Given the description of an element on the screen output the (x, y) to click on. 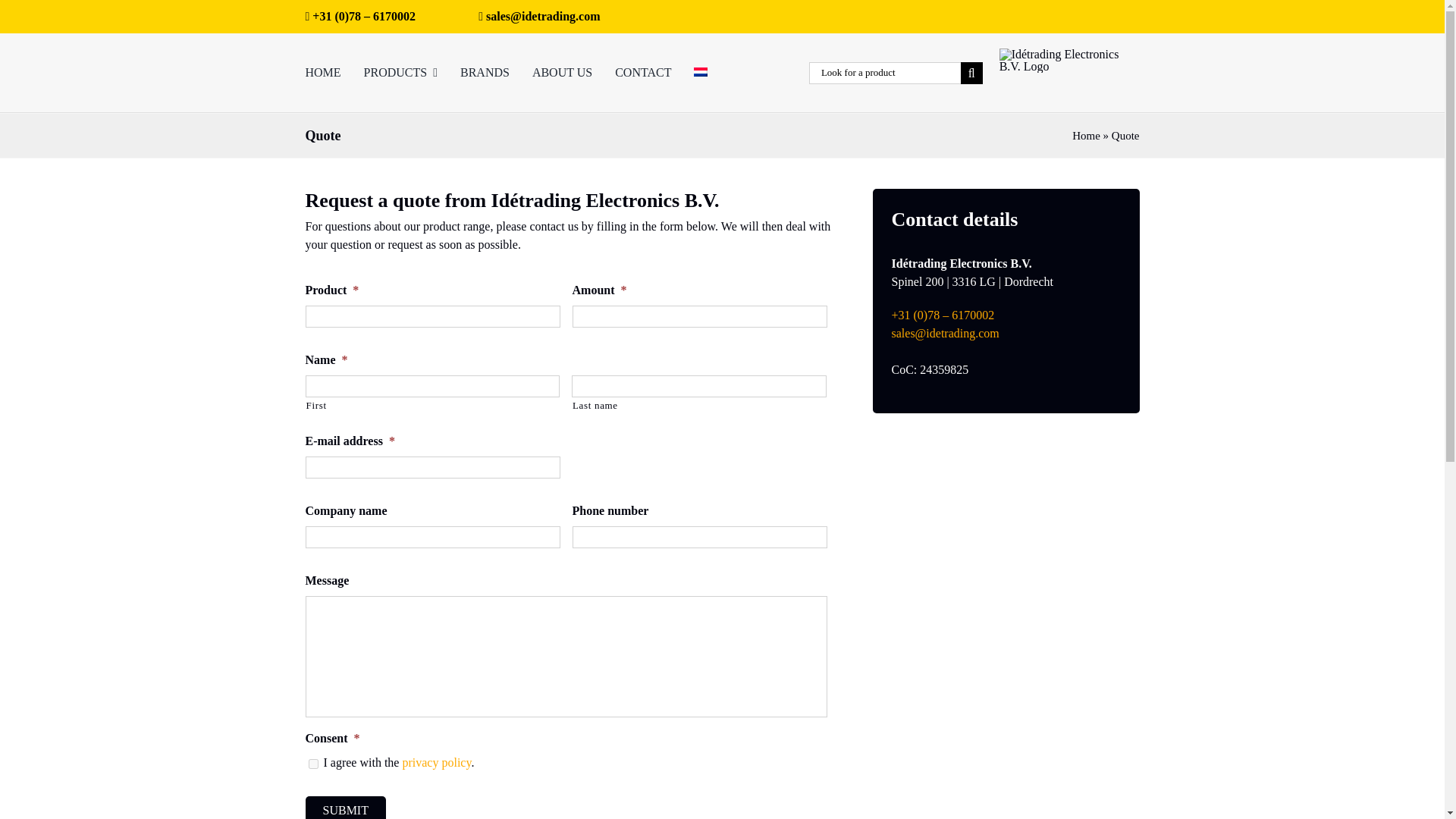
PRODUCTS (401, 72)
HOME (322, 72)
1 (312, 764)
Submit (344, 807)
